Given the description of an element on the screen output the (x, y) to click on. 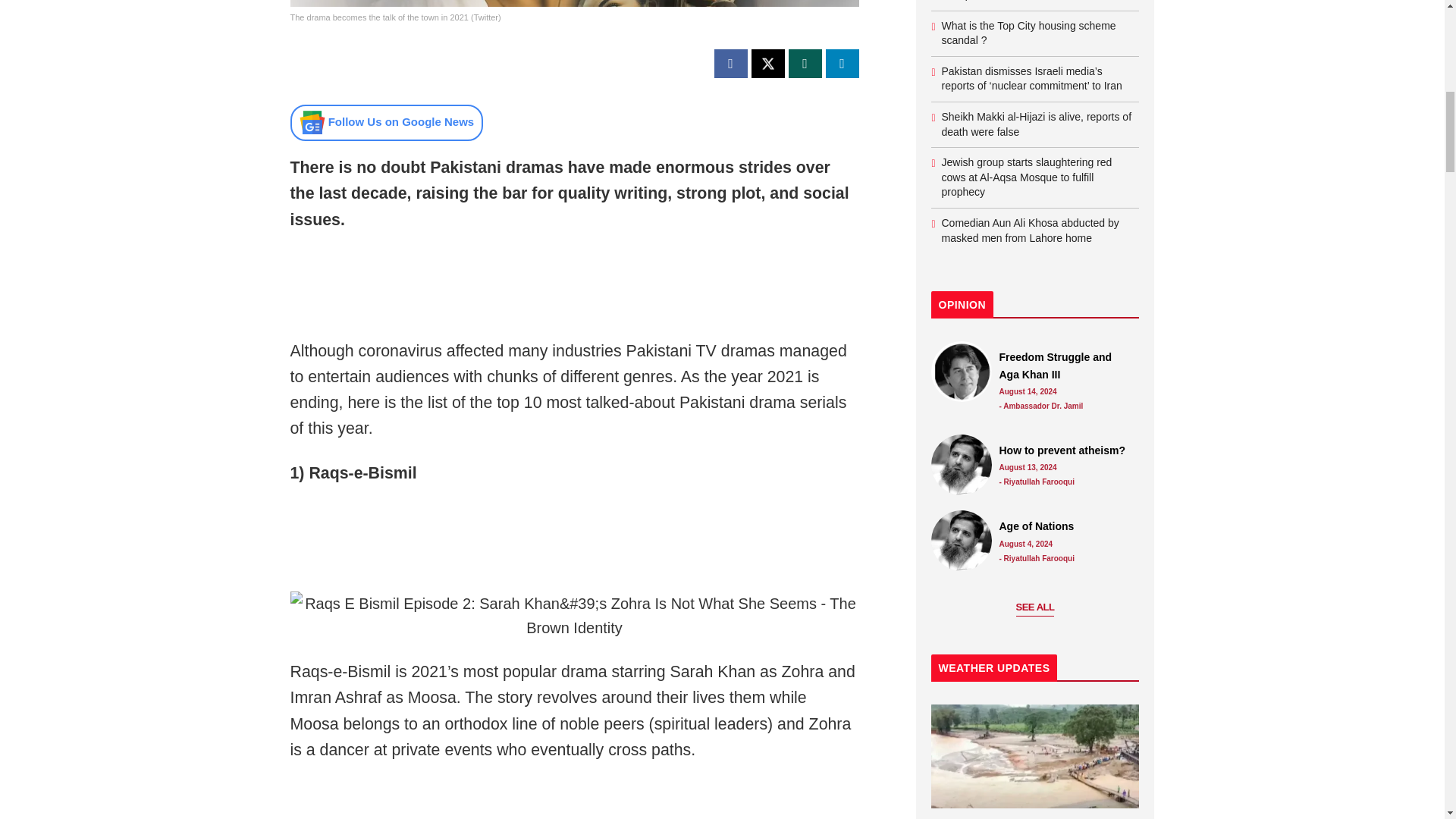
Freedom Struggle and Aga Khan III (1065, 365)
How to prevent atheism? (1065, 450)
Freedom Struggle and Aga Khan III (961, 371)
Age of Nations (961, 540)
How to prevent atheism? (961, 464)
Age of Nations (1065, 525)
